Given the description of an element on the screen output the (x, y) to click on. 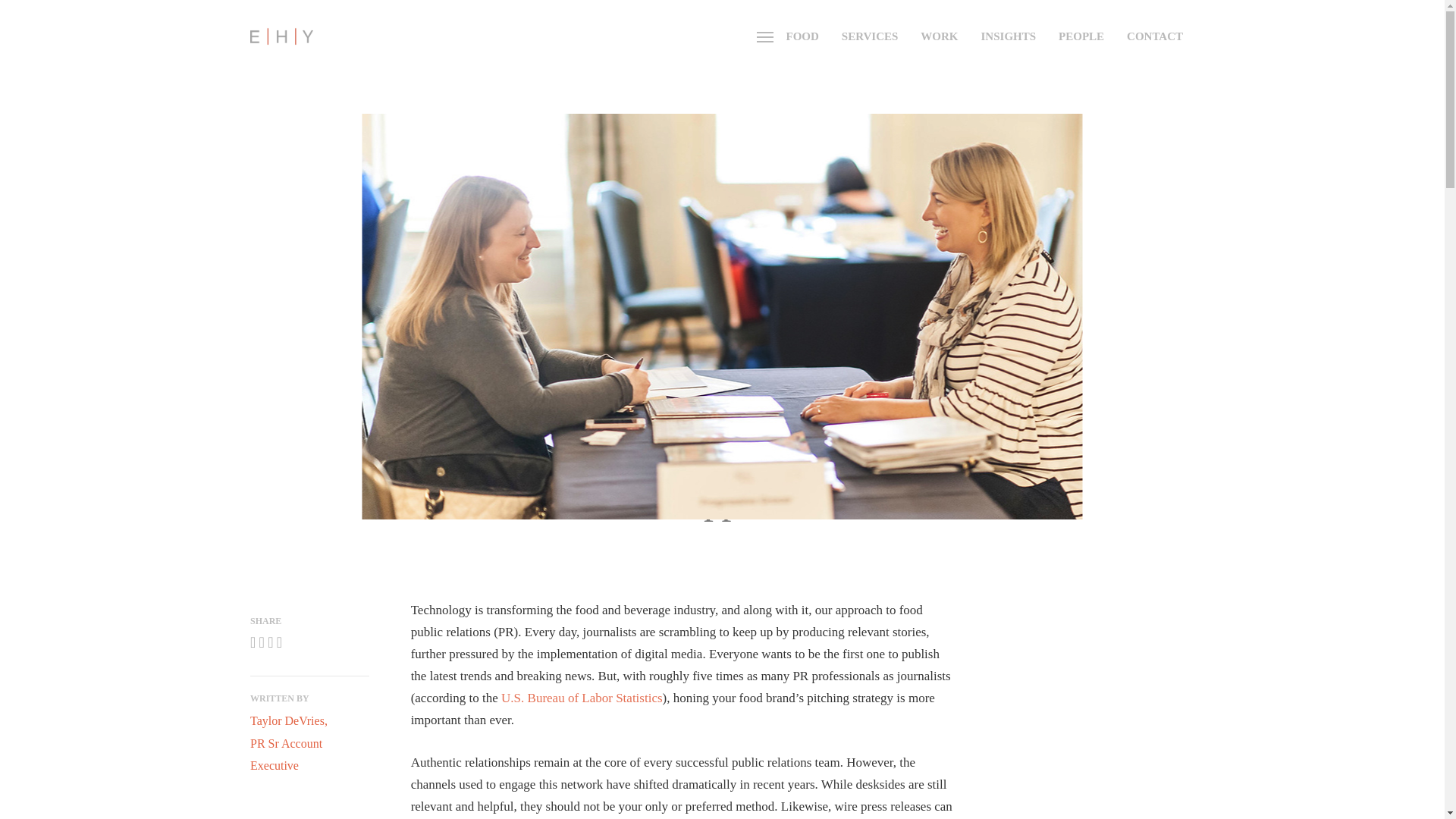
CONTACT (1154, 36)
SERVICES (288, 743)
FOOD (869, 36)
WORK (801, 36)
INSIGHTS (938, 36)
U.S. Bureau of Labor Statistics (1008, 36)
PEOPLE (581, 698)
